Given the description of an element on the screen output the (x, y) to click on. 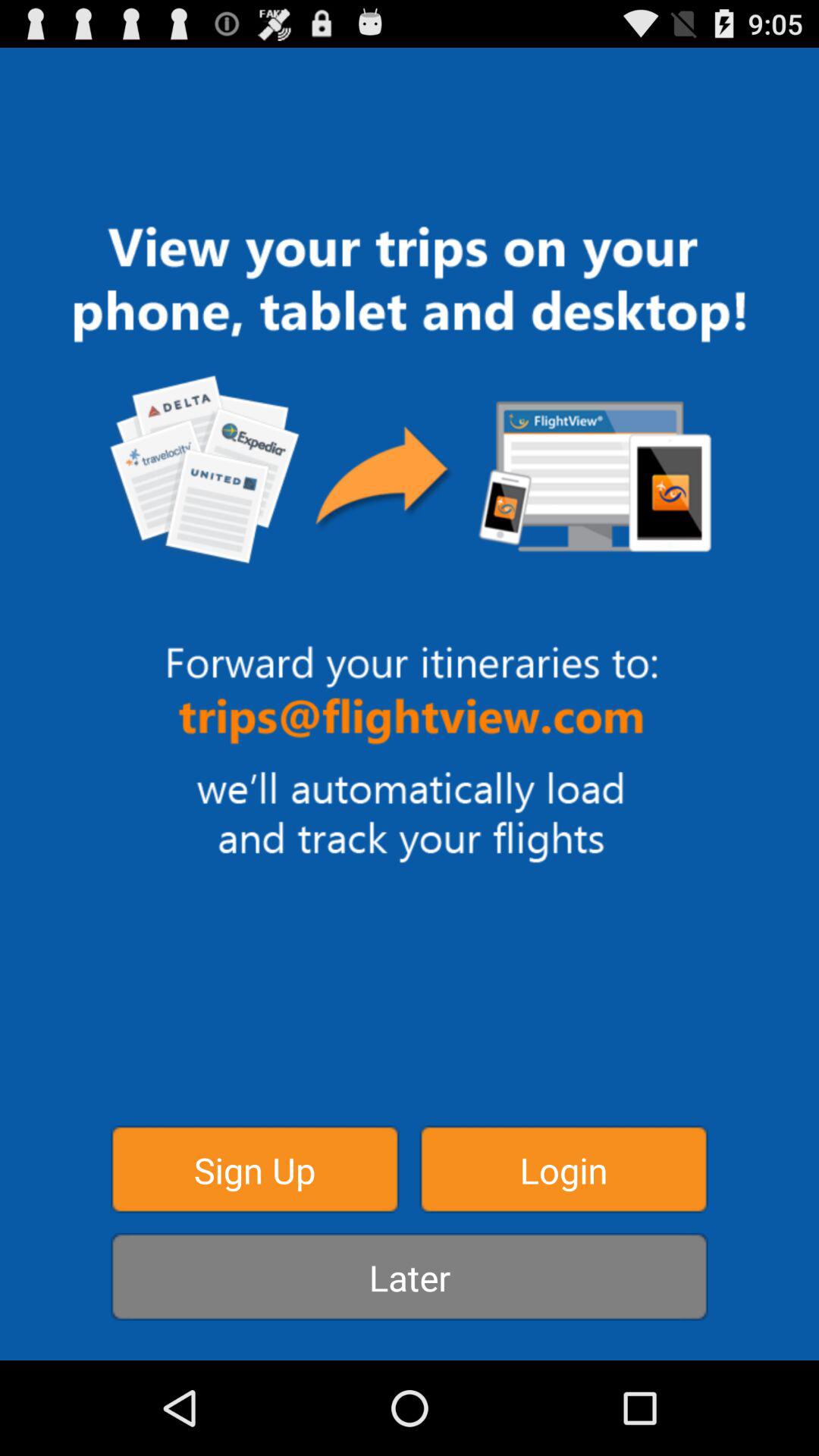
open item below the sign up item (409, 1276)
